Given the description of an element on the screen output the (x, y) to click on. 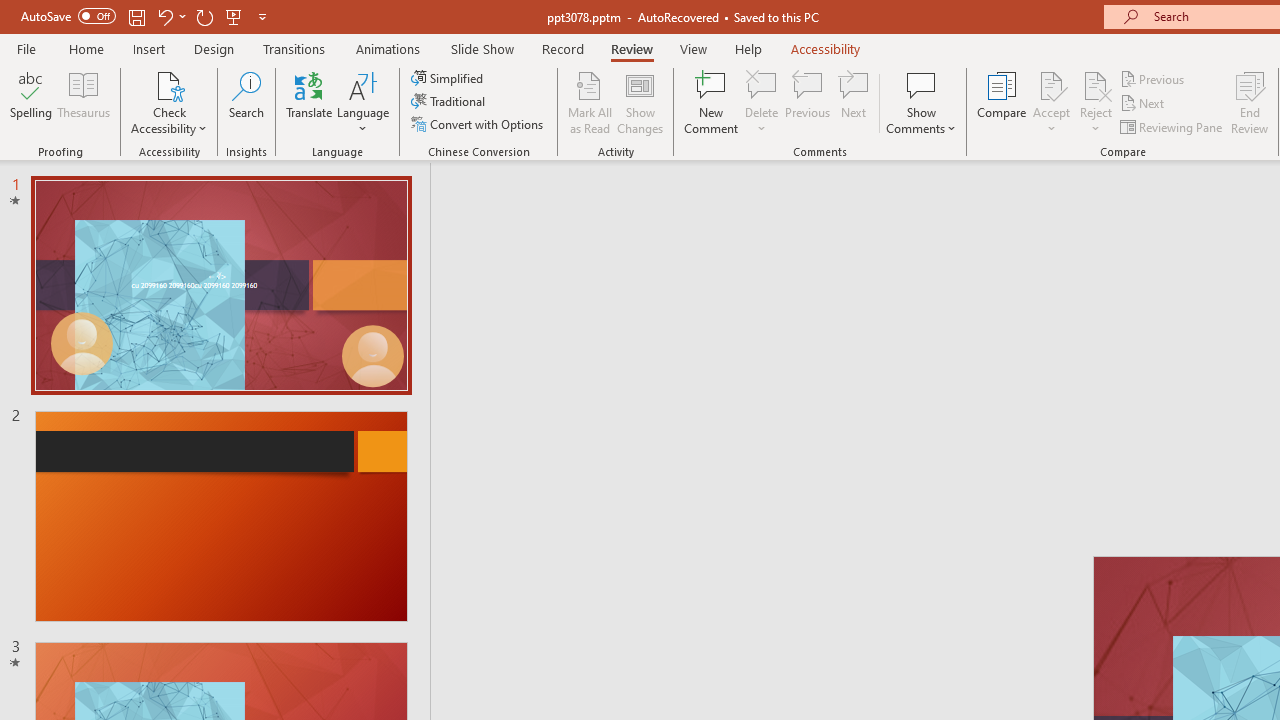
Accept (1051, 102)
